Given the description of an element on the screen output the (x, y) to click on. 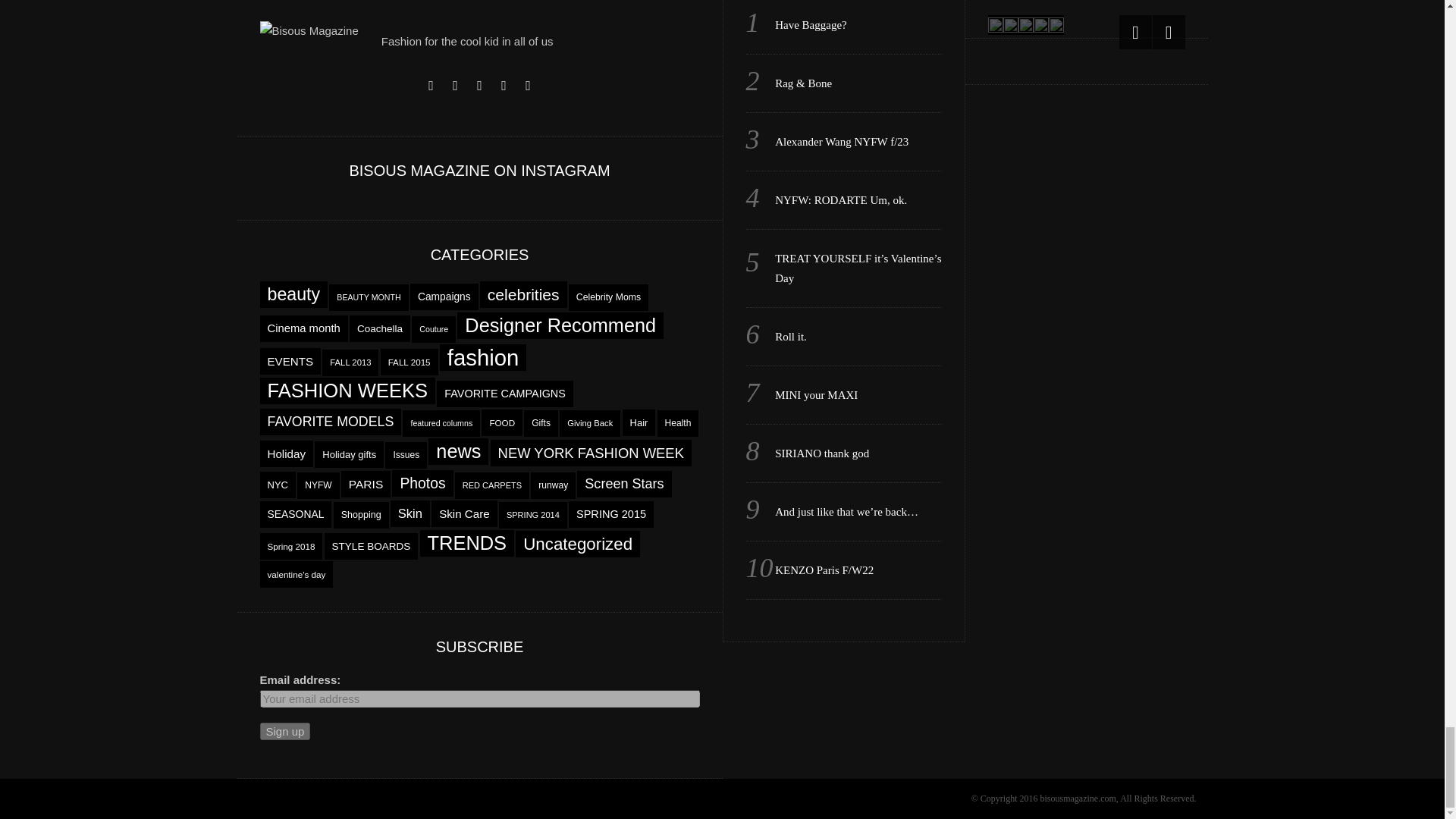
216 topics (347, 390)
Sign up (284, 731)
31 topics (289, 361)
24 topics (444, 296)
207 topics (560, 325)
29 topics (303, 328)
23 topics (379, 328)
13 topics (433, 329)
18 topics (608, 297)
95 topics (523, 294)
